Given the description of an element on the screen output the (x, y) to click on. 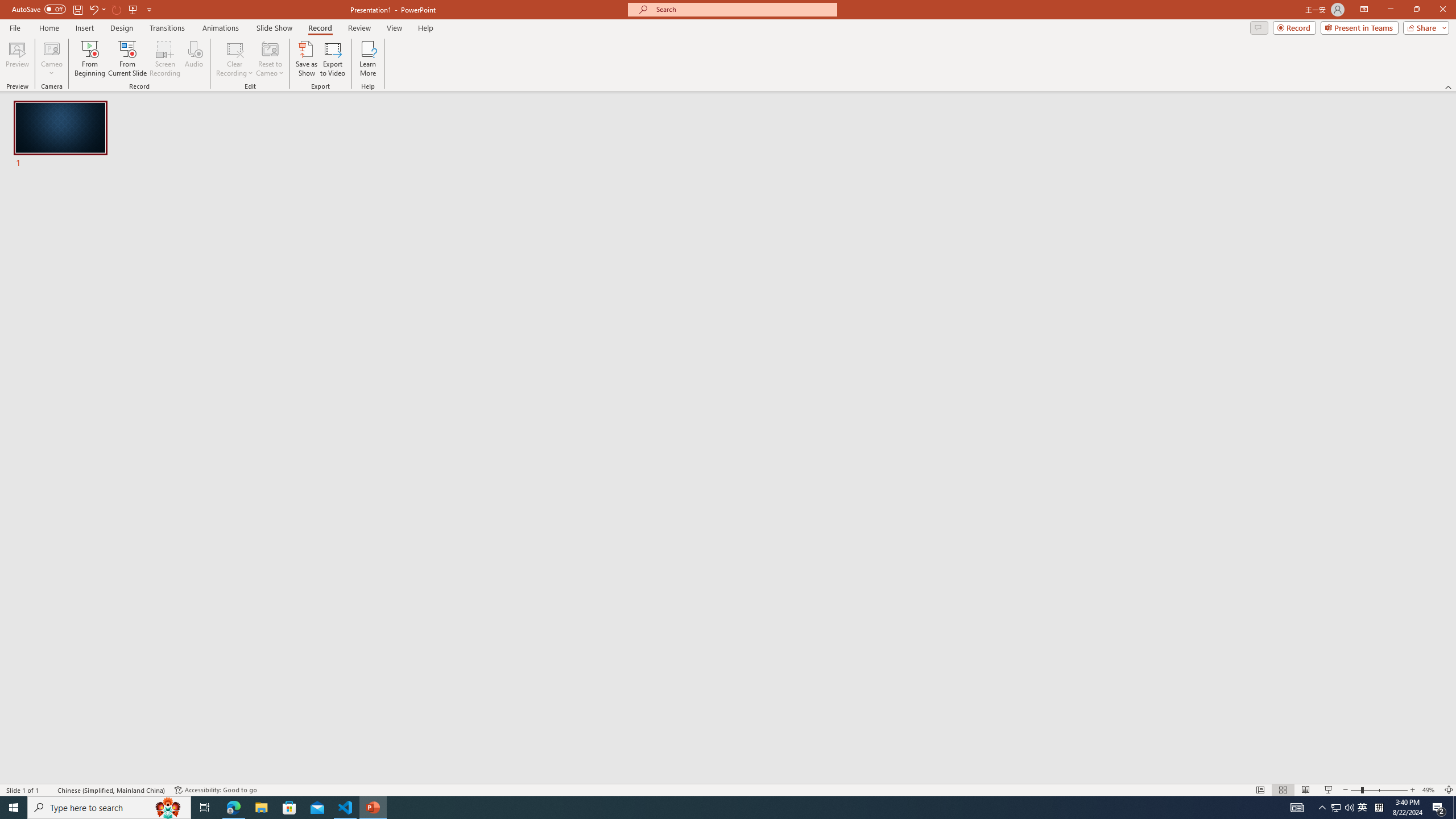
Spell Check  (49, 790)
